Given the description of an element on the screen output the (x, y) to click on. 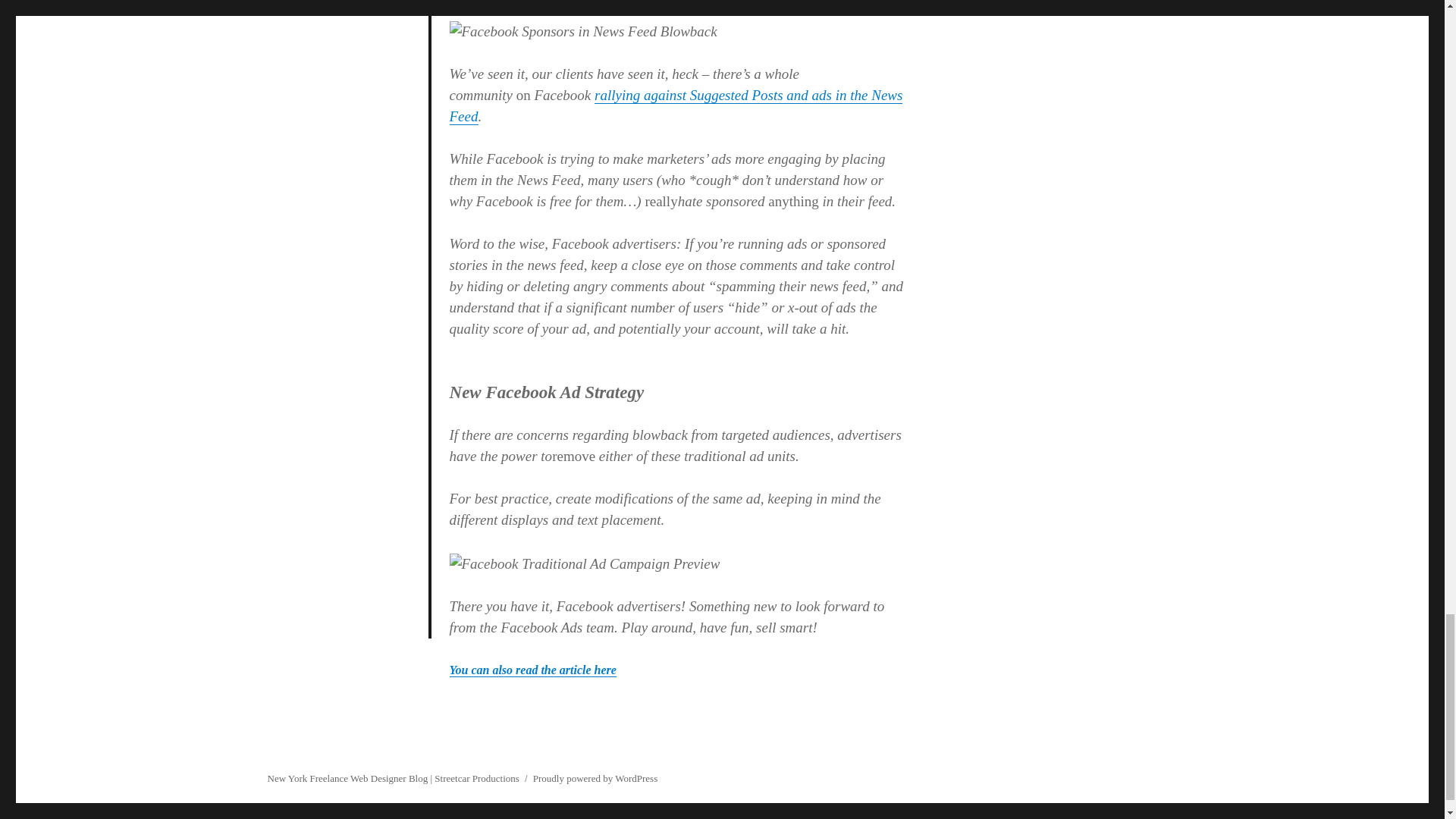
Facebook Traditional Ad Campaign Preview (584, 563)
Facebook Sponsors in News Feed Blowback (583, 31)
rallying against Suggested Posts and ads in the News Feed (675, 105)
You can also read the article here (531, 669)
